Given the description of an element on the screen output the (x, y) to click on. 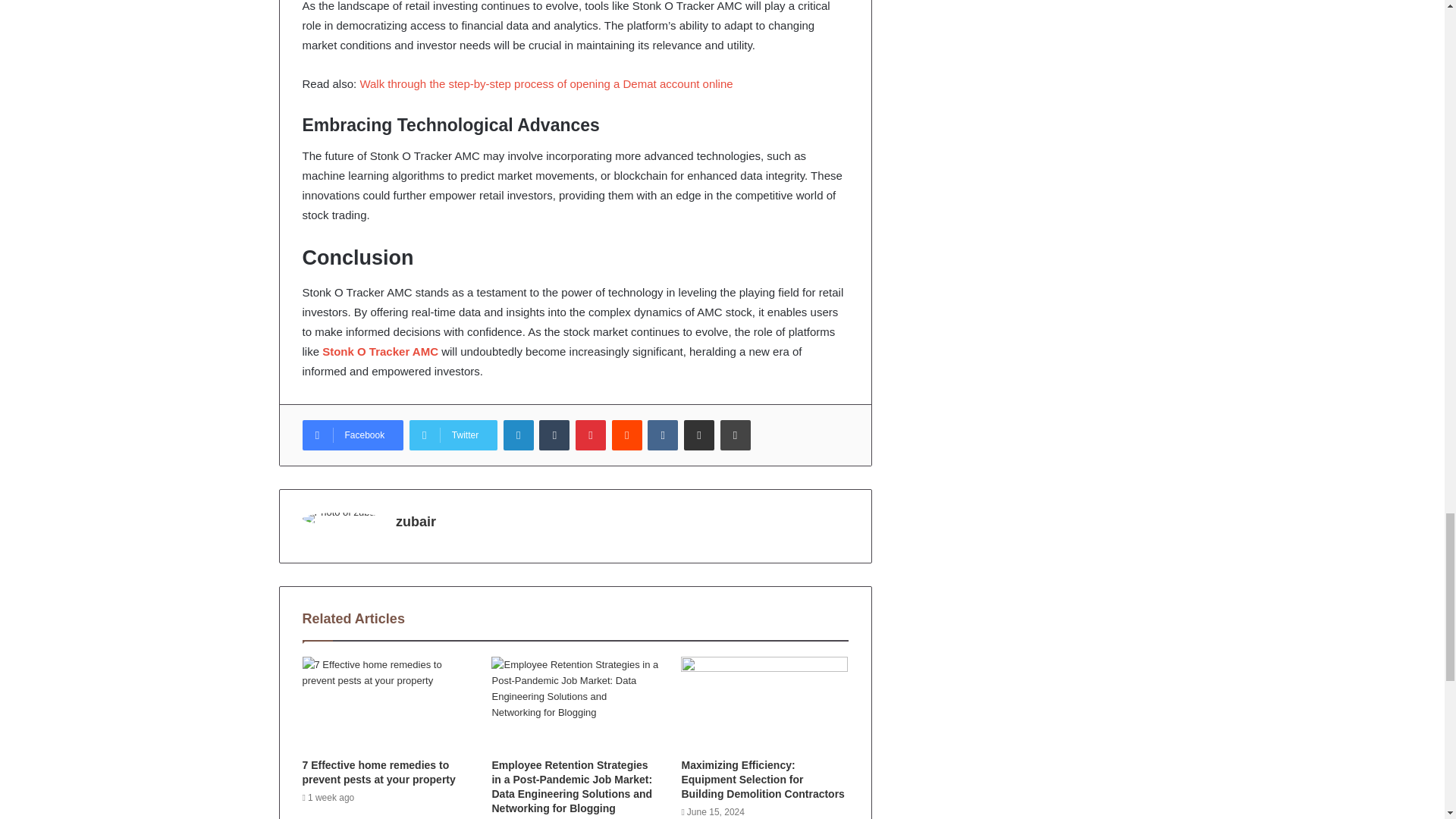
Stonk O Tracker AMC (379, 350)
Print (735, 435)
Twitter (453, 435)
LinkedIn (518, 435)
Facebook (352, 435)
Reddit (626, 435)
Share via Email (699, 435)
Twitter (453, 435)
Tumblr (553, 435)
Reddit (626, 435)
Pinterest (590, 435)
Facebook (352, 435)
VKontakte (662, 435)
Pinterest (590, 435)
